Given the description of an element on the screen output the (x, y) to click on. 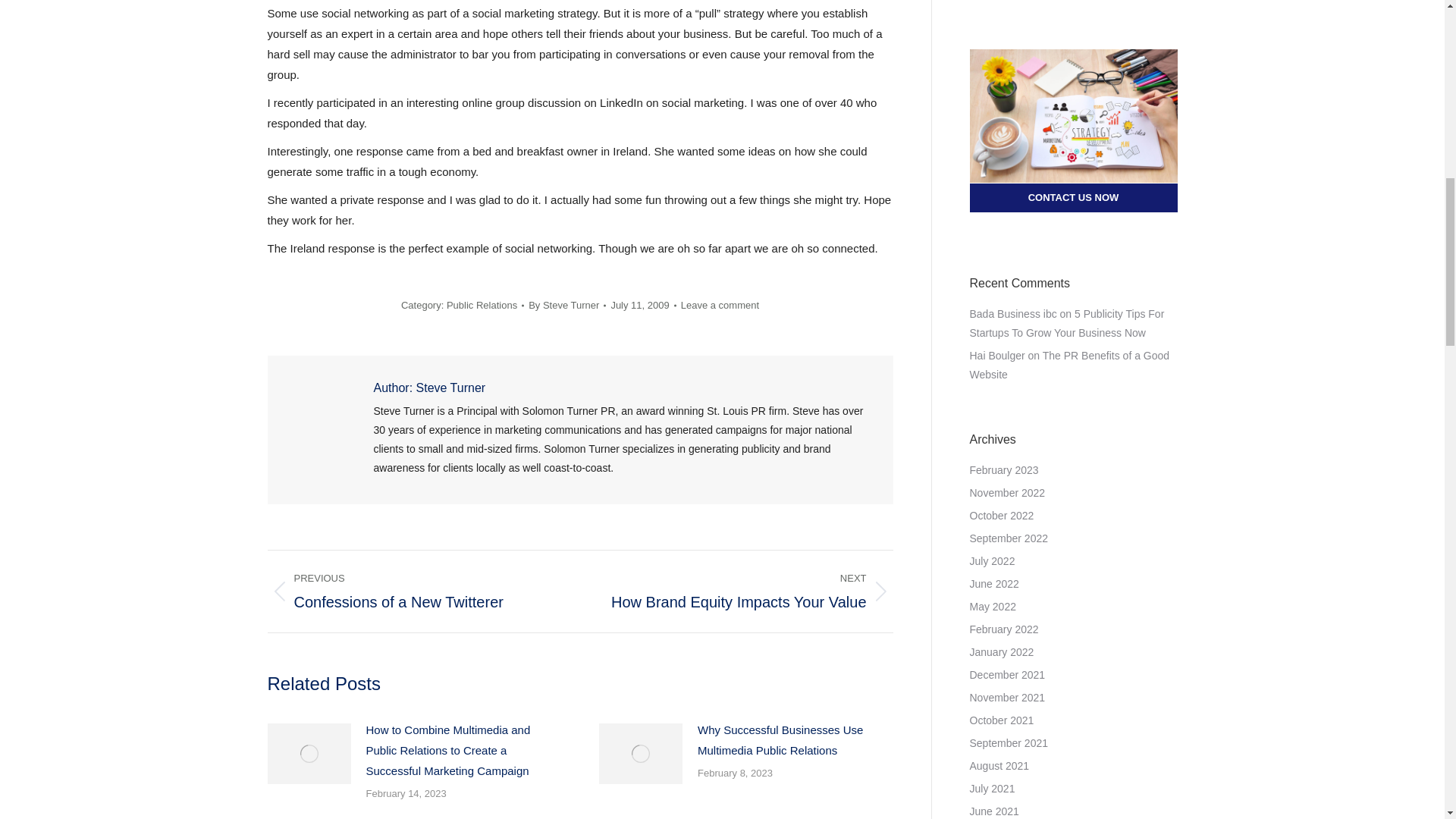
View all posts by Steve Turner (566, 304)
Why Successful Businesses Use Multimedia Public Relations (747, 591)
By Steve Turner (795, 739)
9:35 am (566, 304)
Leave a comment (411, 591)
Public Relations (642, 304)
July 11, 2009 (719, 304)
